Given the description of an element on the screen output the (x, y) to click on. 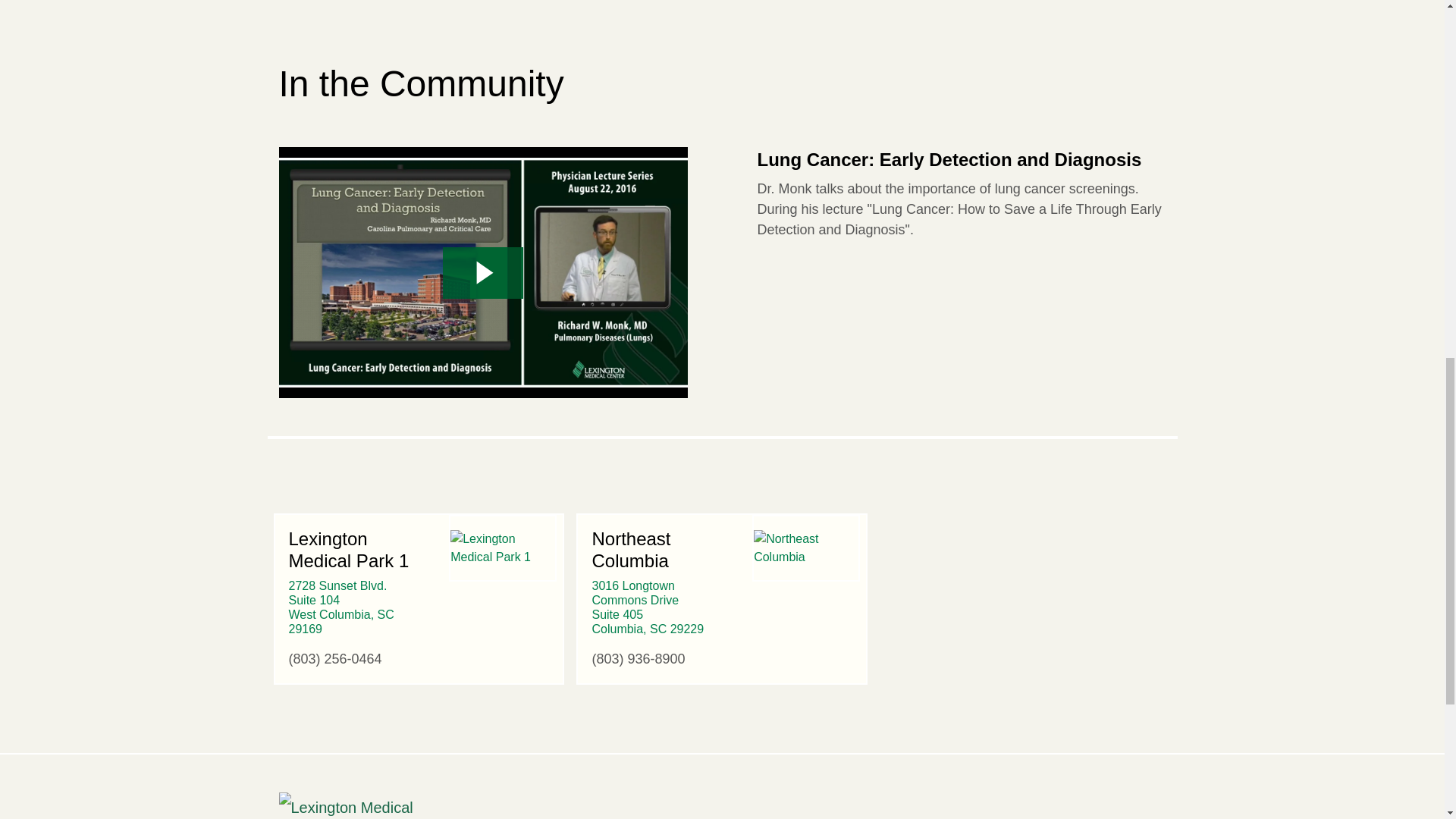
Northeast Columbia (340, 607)
Lexington Medical Park 1 (806, 548)
